Given the description of an element on the screen output the (x, y) to click on. 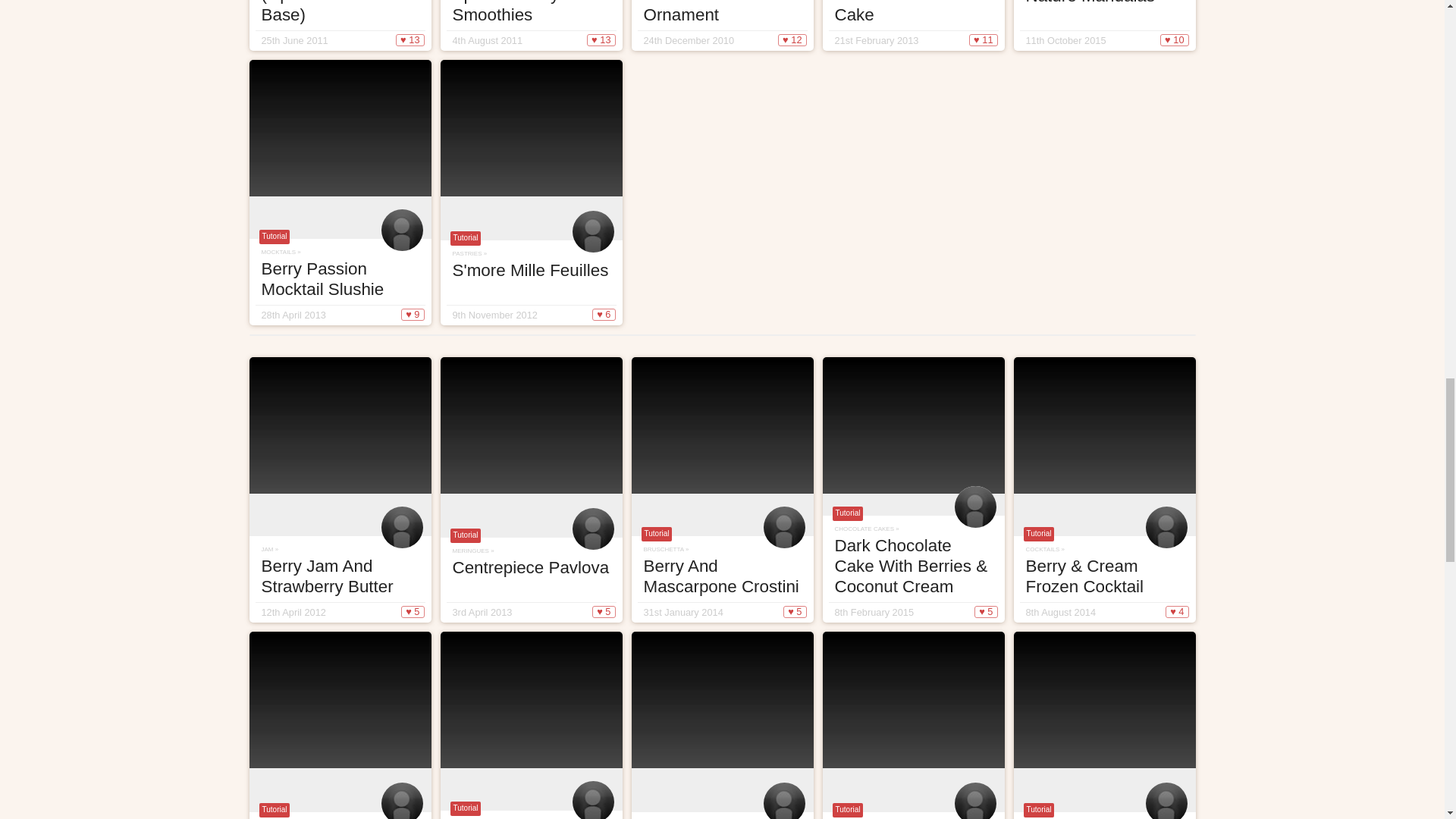
drink your fruits and veggies daily (530, 25)
made with low fat yoghurt, summer berries and gelatin (339, 25)
A simple photo ornament in a vintage yet modern style. (721, 25)
Painting with nature (1104, 25)
